Given the description of an element on the screen output the (x, y) to click on. 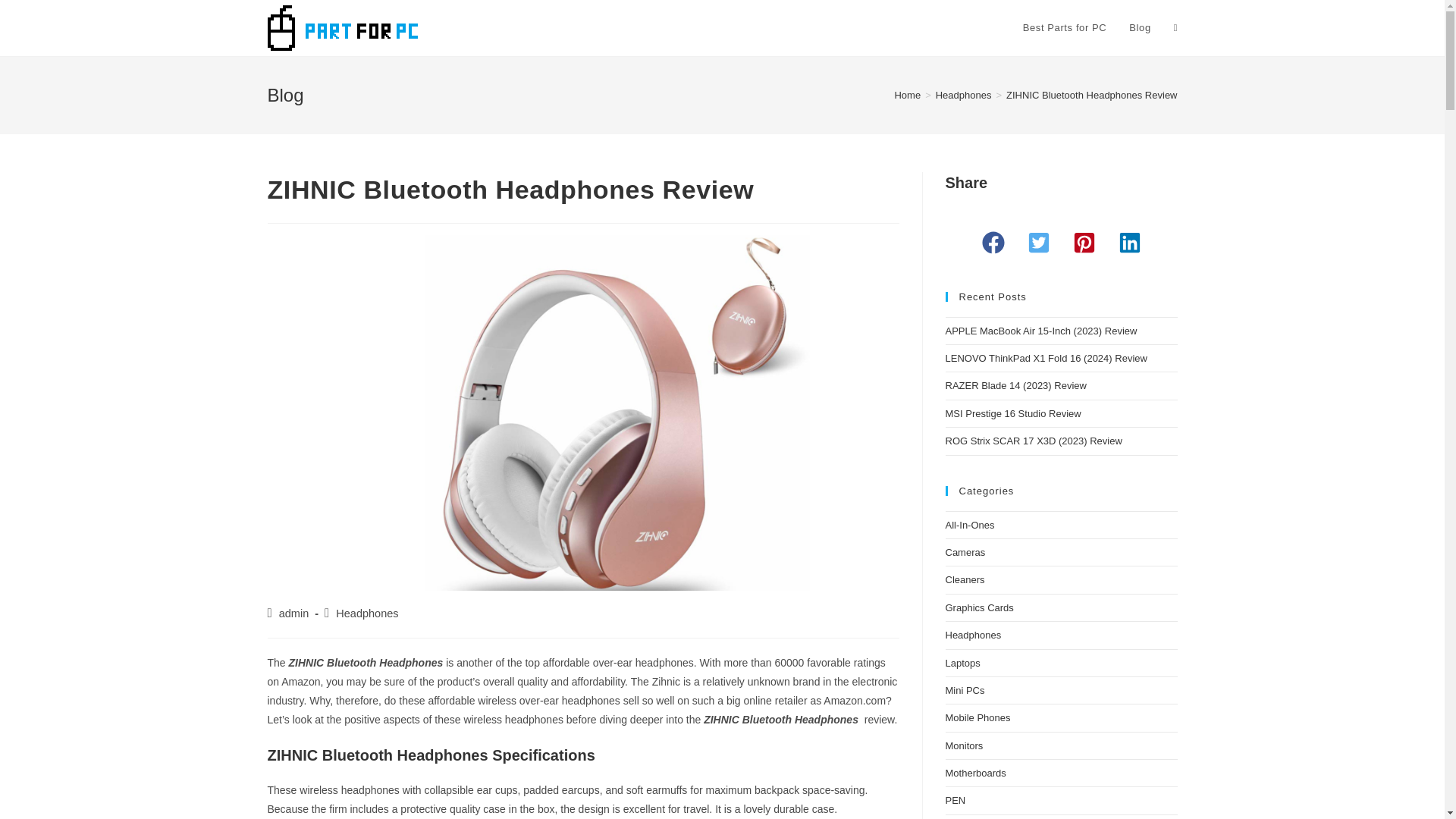
Laptops (961, 662)
Headphones (963, 94)
Toggle website search (1175, 28)
Mini PCs (964, 690)
admin (293, 613)
Cameras (964, 552)
Headphones (972, 634)
All-In-Ones (969, 524)
Cleaners (964, 579)
Motherboards (975, 772)
MSI Prestige 16 Studio Review (1012, 413)
Home (906, 94)
Posts by admin (293, 613)
Graphics Cards (978, 607)
Blog (1139, 28)
